Given the description of an element on the screen output the (x, y) to click on. 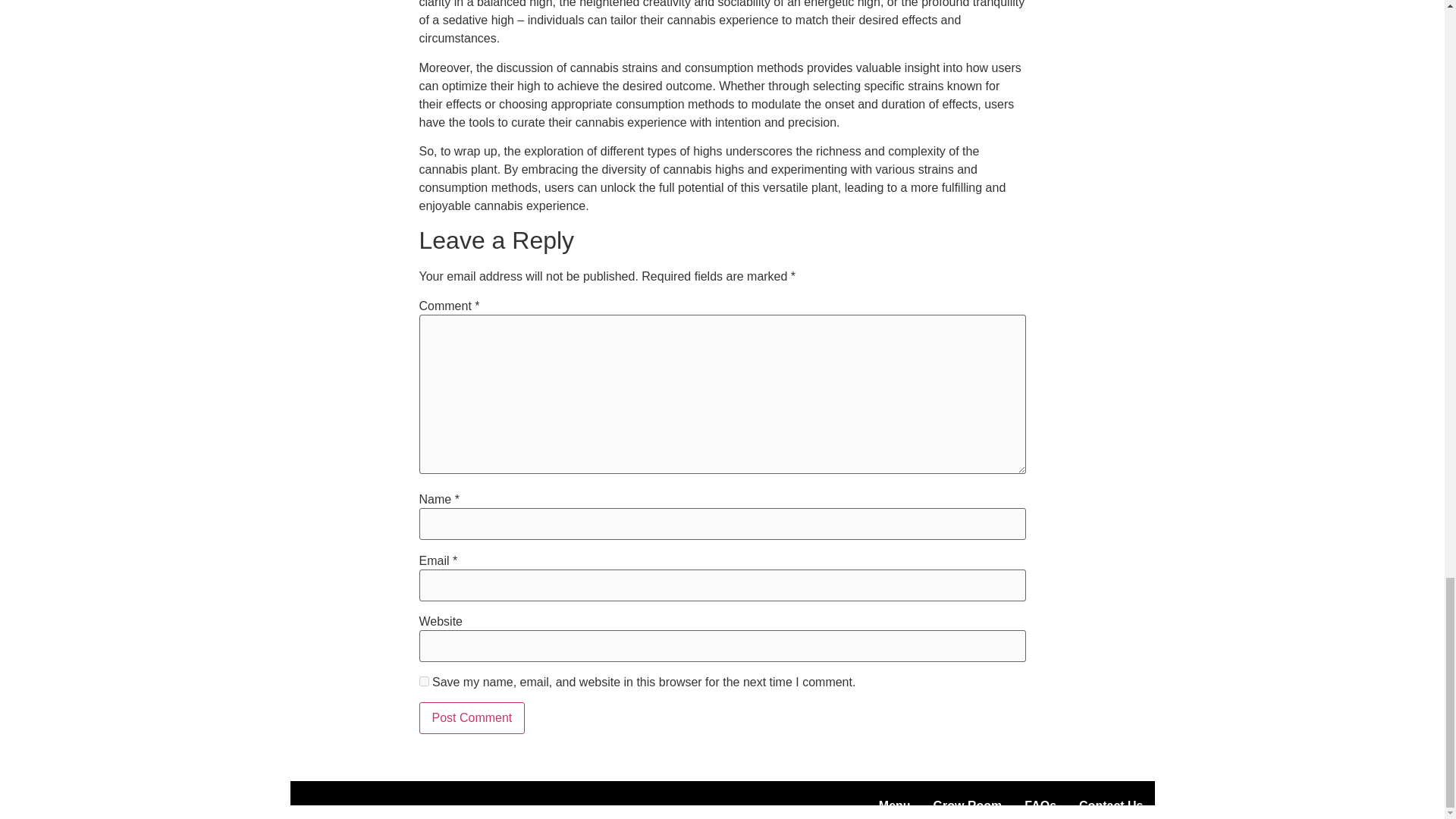
yes (423, 681)
Post Comment (471, 717)
Post Comment (471, 717)
